Given the description of an element on the screen output the (x, y) to click on. 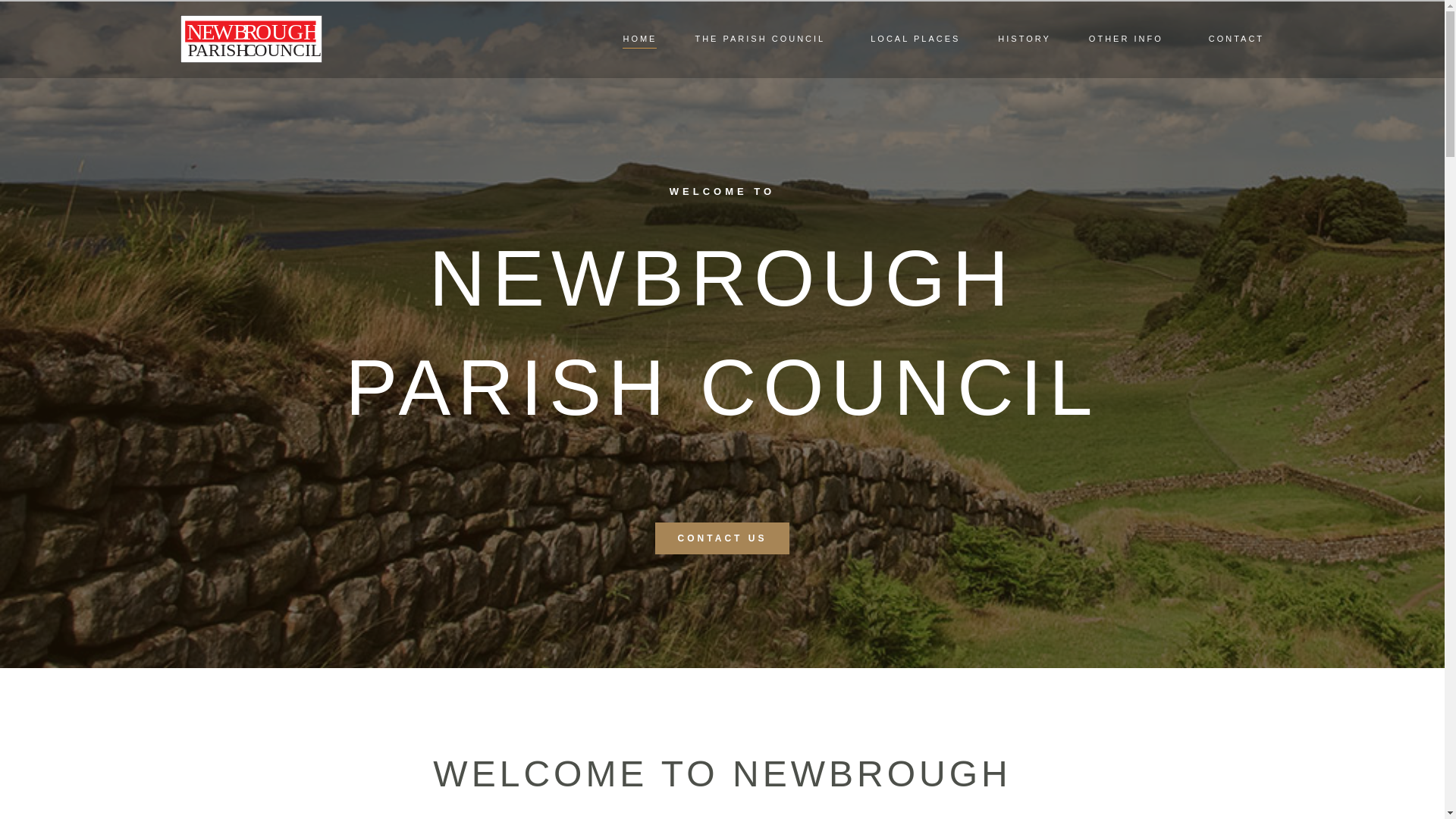
OTHER INFO (1129, 38)
HISTORY (1024, 38)
CONTACT US (722, 543)
CONTACT (1235, 38)
THE PARISH COUNCIL (763, 38)
HOME (639, 38)
LOCAL PLACES (914, 38)
